Given the description of an element on the screen output the (x, y) to click on. 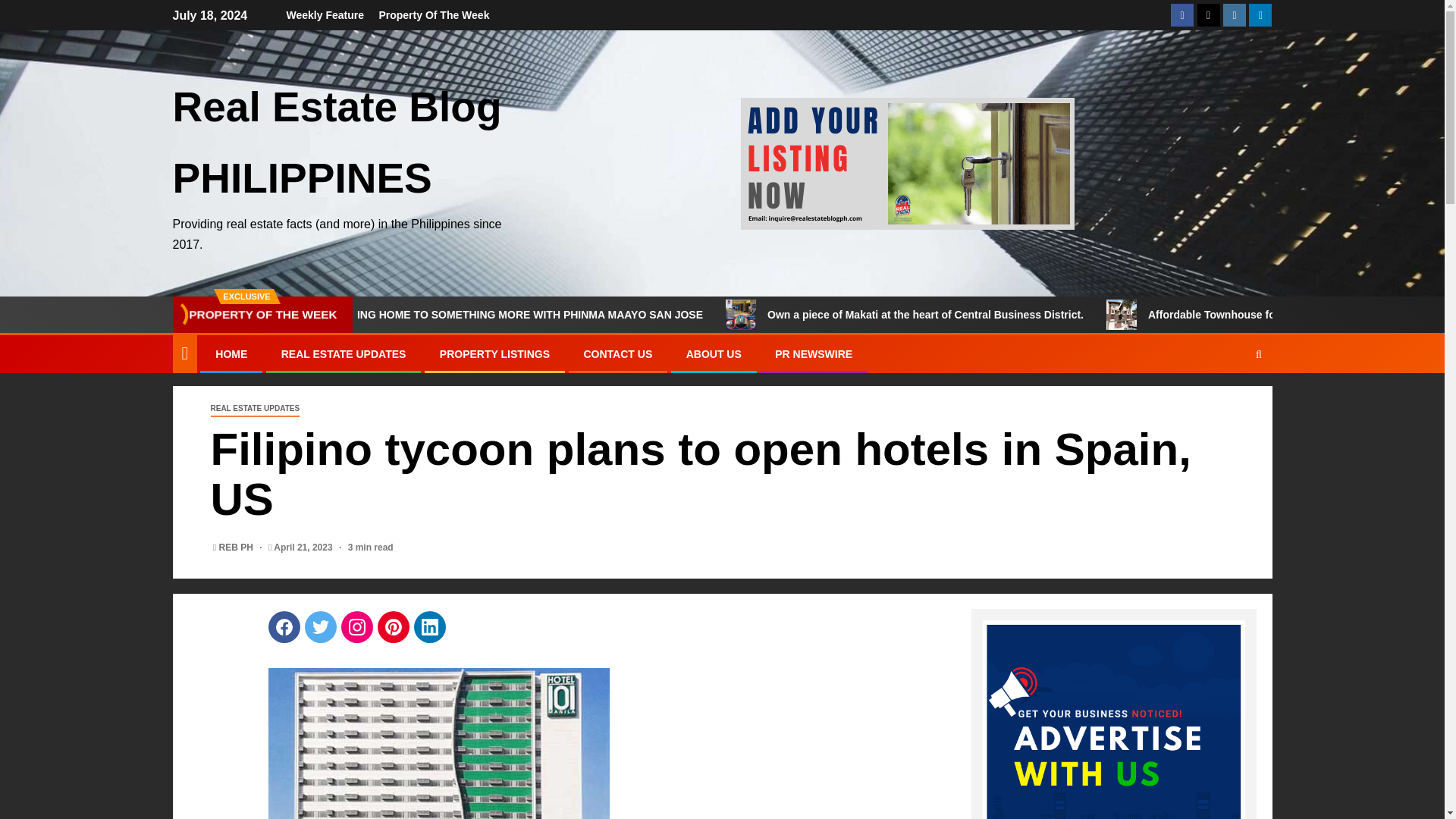
Linkedin (429, 626)
REB PH (237, 547)
CONTACT US (617, 354)
PR NEWSWIRE (812, 354)
Instagram (356, 626)
Twitter (320, 626)
Search (1258, 353)
Linkedin (429, 626)
Pinterest (393, 626)
PROPERTY LISTINGS (494, 354)
Property Of The Week (433, 15)
Pinterest (393, 626)
REAL ESTATE UPDATES (343, 354)
Facebook (283, 626)
REAL ESTATE UPDATES (255, 408)
